Given the description of an element on the screen output the (x, y) to click on. 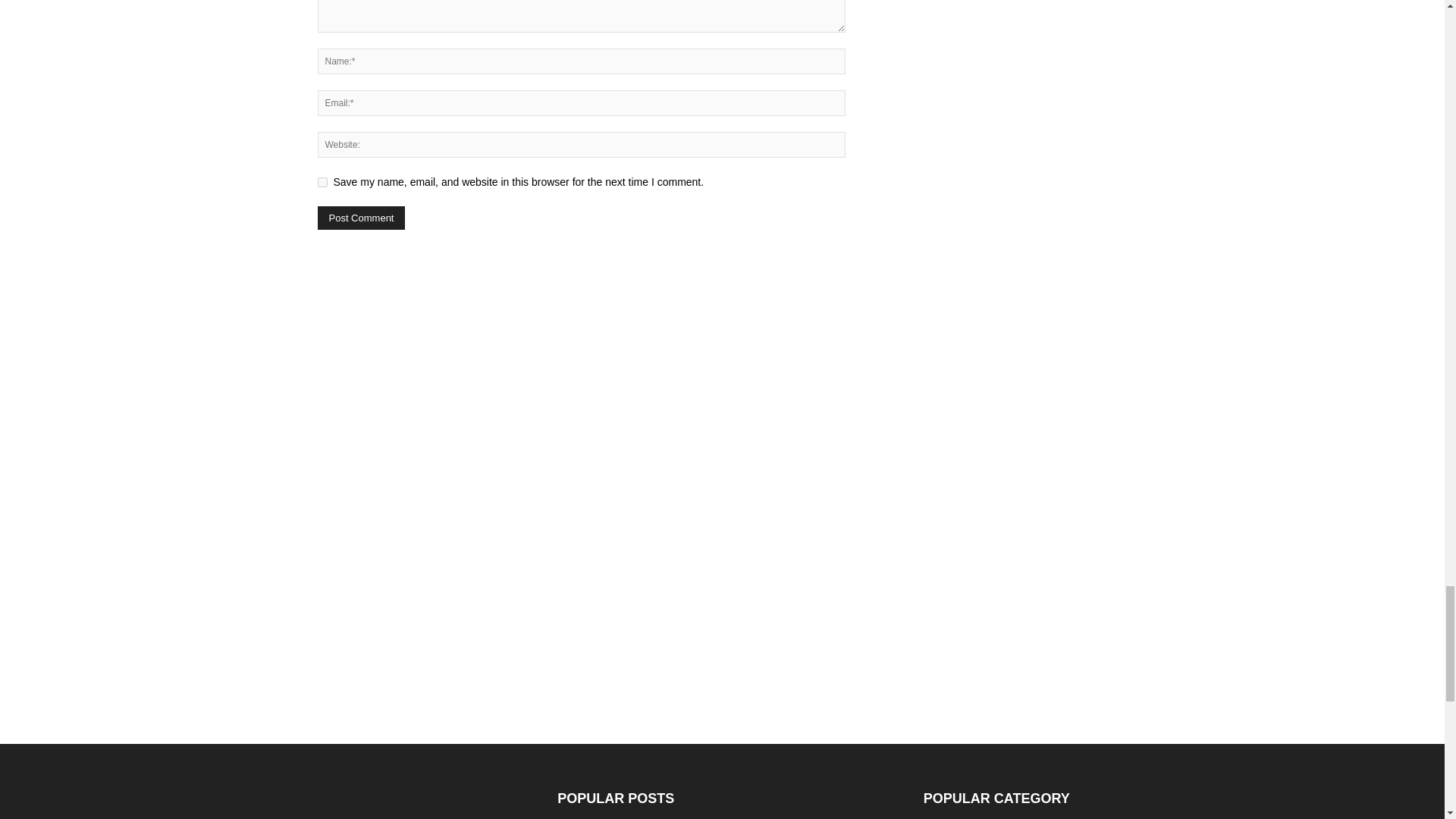
Post Comment (360, 218)
yes (321, 182)
